Given the description of an element on the screen output the (x, y) to click on. 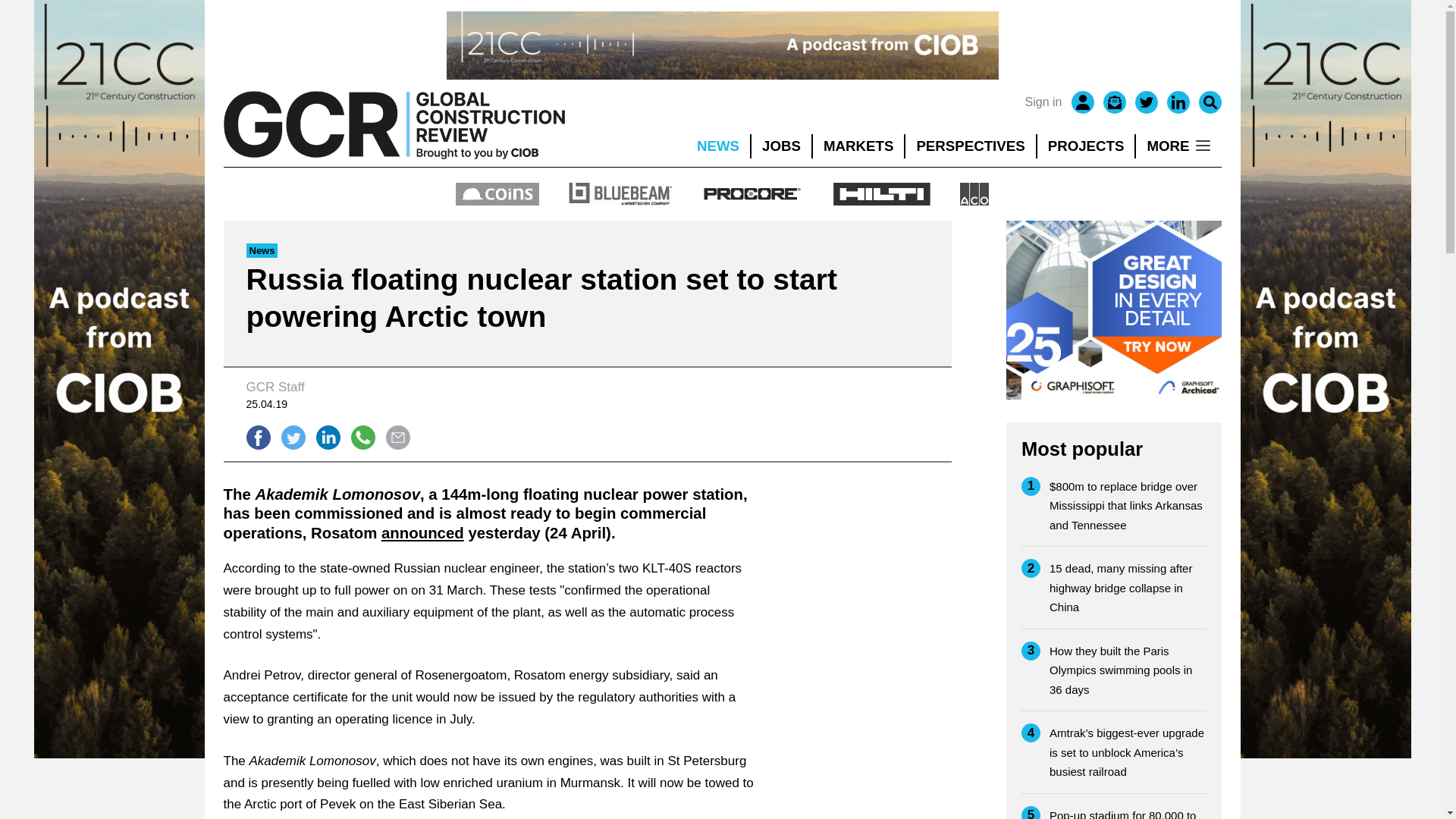
PROJECTS (1085, 146)
Sign in (1043, 102)
NEWS (717, 146)
PERSPECTIVES (970, 146)
Share on Facebook (257, 437)
Send email (397, 437)
Share on LinkedIn (327, 437)
Tweet (292, 437)
MARKETS (858, 146)
MORE (1178, 146)
JOBS (780, 146)
Share on WhatsApp (362, 437)
